Given the description of an element on the screen output the (x, y) to click on. 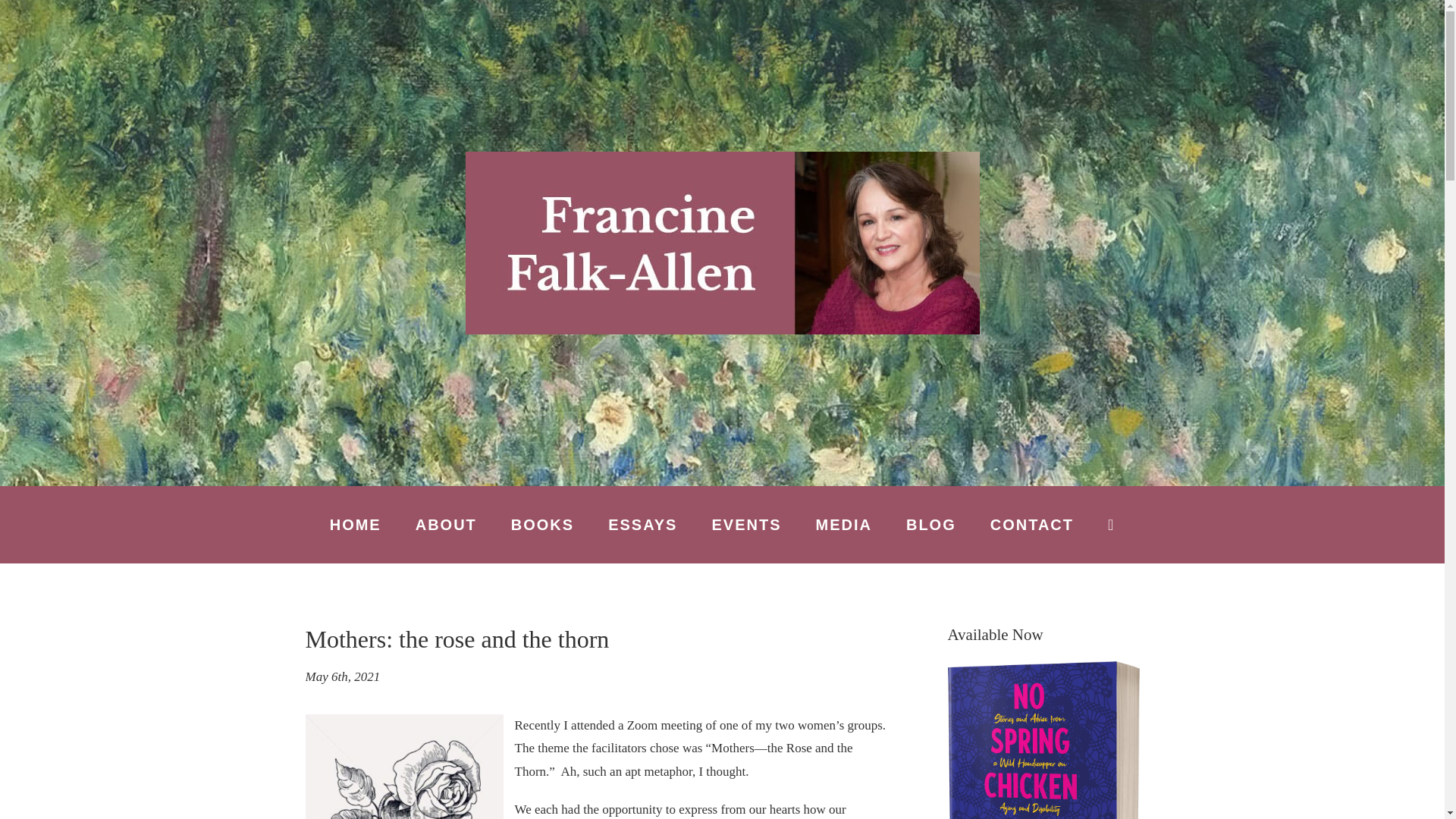
HOME (355, 524)
CONTACT (1032, 524)
MEDIA (842, 524)
BLOG (930, 524)
BOOKS (542, 524)
ESSAYS (642, 524)
ABOUT (445, 524)
EVENTS (745, 524)
